Given the description of an element on the screen output the (x, y) to click on. 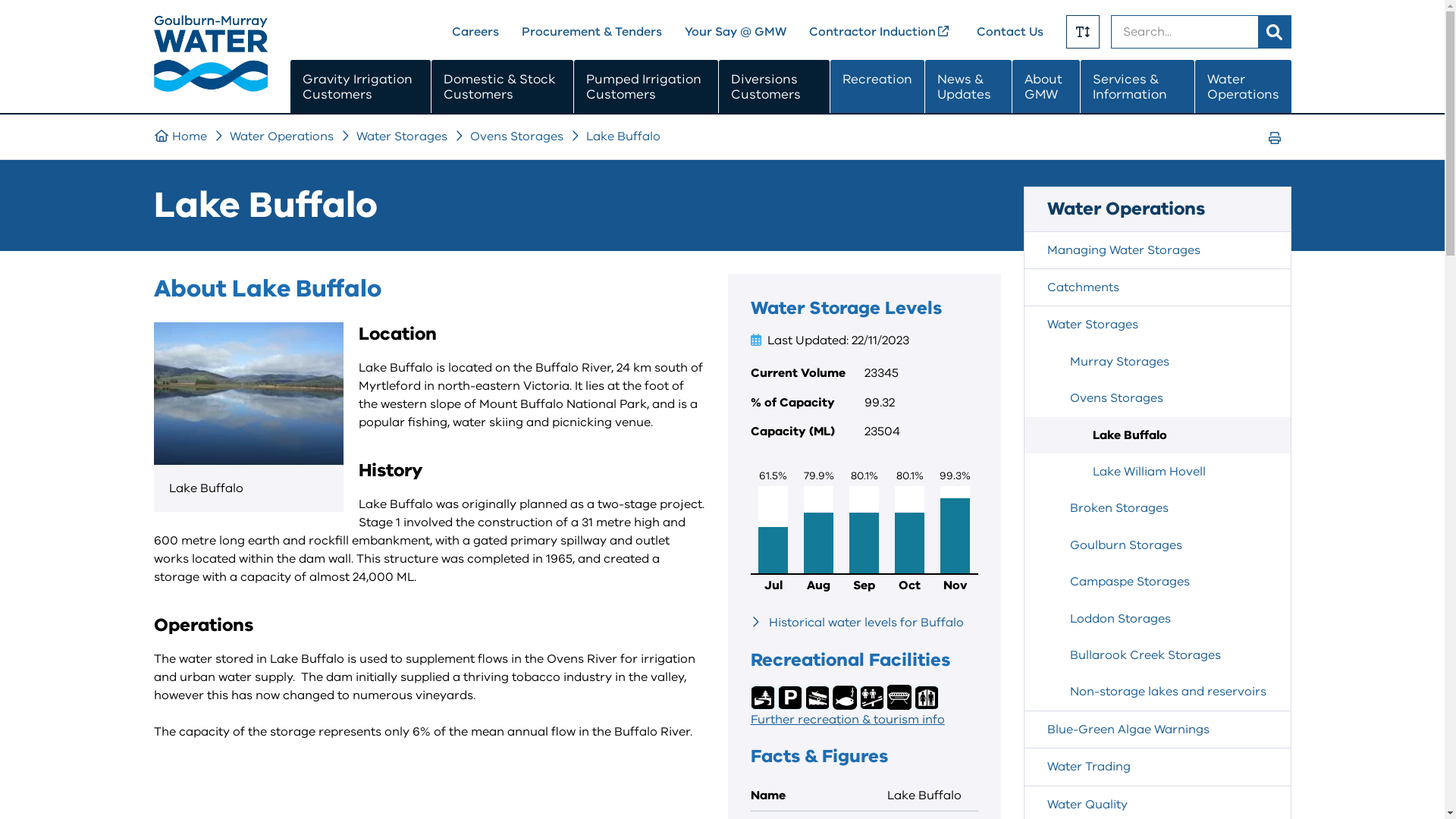
Further recreation & tourism info Element type: text (847, 719)
Services & Information Element type: text (1137, 86)
Home Element type: text (179, 136)
Procurement & Tenders Element type: text (591, 31)
Catchments Element type: text (1157, 287)
Contact Us Element type: text (1009, 31)
Search Element type: text (1273, 31)
Recreation Element type: text (877, 86)
Ovens Storages Element type: text (1157, 397)
News & Updates Element type: text (968, 86)
Managing Water Storages Element type: text (1157, 250)
Broken Storages Element type: text (1157, 507)
Lake William Hovell Element type: text (1157, 471)
Diversions Customers Element type: text (774, 86)
Lake Buffalo Element type: text (622, 136)
Non-storage lakes and reservoirs Element type: text (1157, 691)
Historical water levels for Buffalo Element type: text (865, 622)
Water Storages Element type: text (1157, 324)
Pumped Irrigation Customers Element type: text (646, 86)
Water Trading Element type: text (1157, 766)
Loddon Storages Element type: text (1157, 618)
Return to the home page Element type: hover (209, 87)
Gravity Irrigation Customers Element type: text (359, 86)
Your Say @ GMW Element type: text (734, 31)
Water Storages Element type: text (401, 136)
Print Page Element type: text (1273, 136)
Blue-Green Algae Warnings Element type: text (1157, 729)
Careers Element type: text (474, 31)
Water Operations Element type: text (1157, 209)
Campaspe Storages Element type: text (1157, 581)
Water Operations Element type: text (1243, 86)
About GMW Element type: text (1045, 86)
Toggle Text Size Element type: text (1082, 31)
Goulburn Storages Element type: text (1157, 545)
Lake Buffalo Element type: text (1157, 435)
Domestic & Stock Customers Element type: text (502, 86)
Water Operations Element type: text (280, 136)
Contractor Induction Element type: text (880, 31)
Bullarook Creek Storages Element type: text (1157, 655)
Murray Storages Element type: text (1157, 361)
Ovens Storages Element type: text (516, 136)
